Given the description of an element on the screen output the (x, y) to click on. 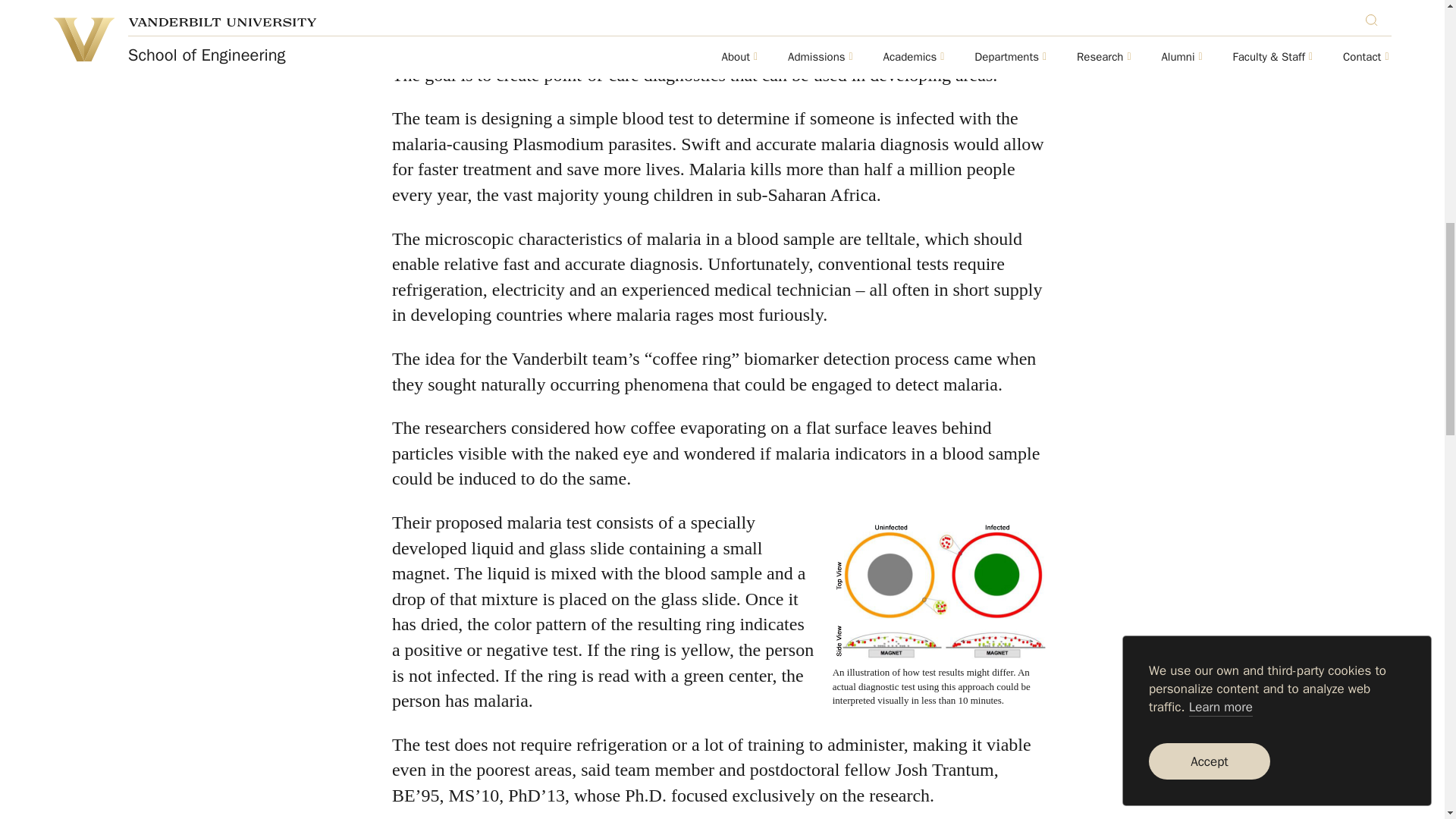
CoffeeRing-graphic (942, 589)
